Given the description of an element on the screen output the (x, y) to click on. 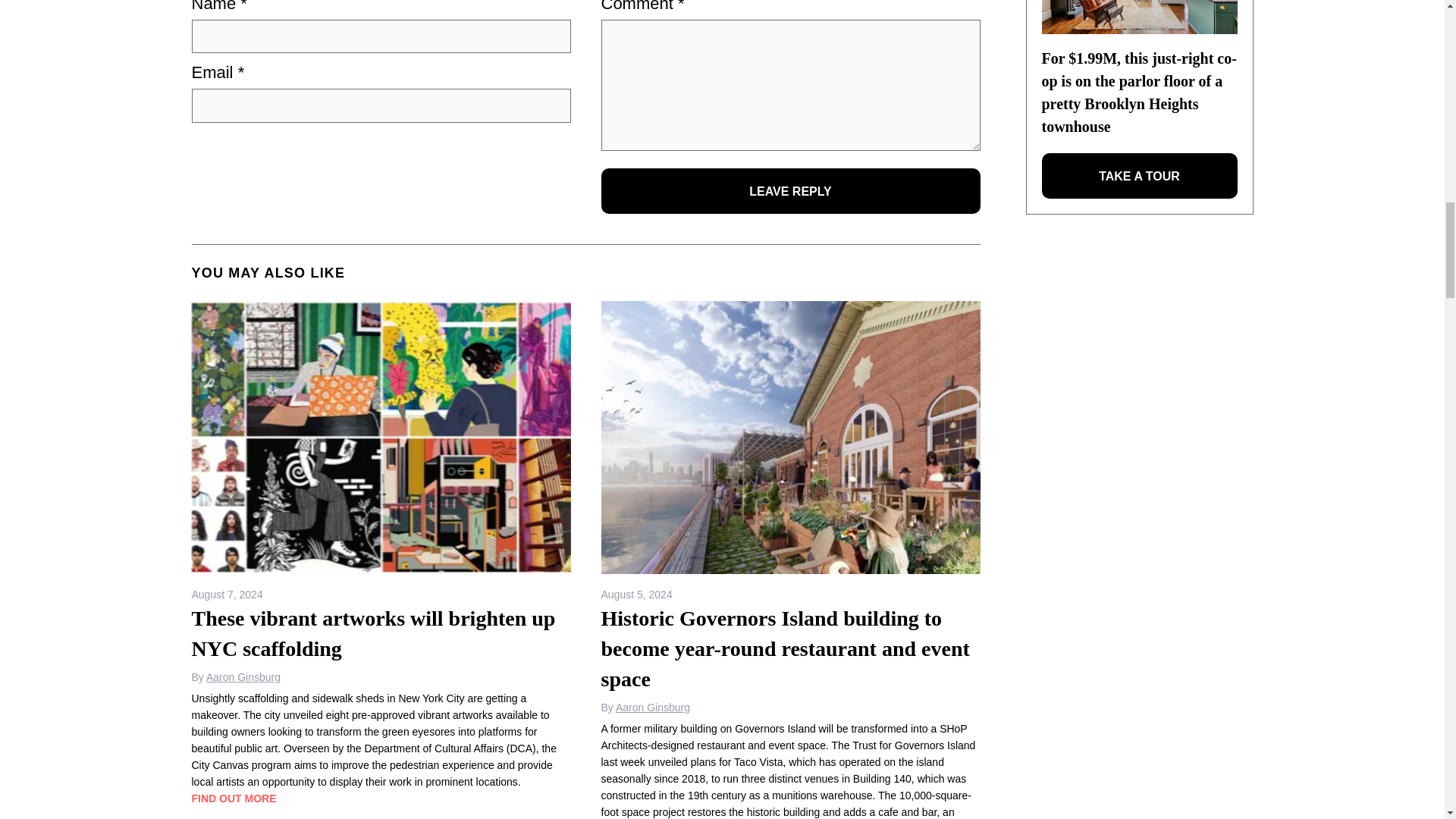
These vibrant artworks will brighten up NYC scaffolding (380, 437)
Posts by Aaron Ginsburg (652, 707)
Leave Reply (789, 190)
Posts by Aaron Ginsburg (243, 676)
